Given the description of an element on the screen output the (x, y) to click on. 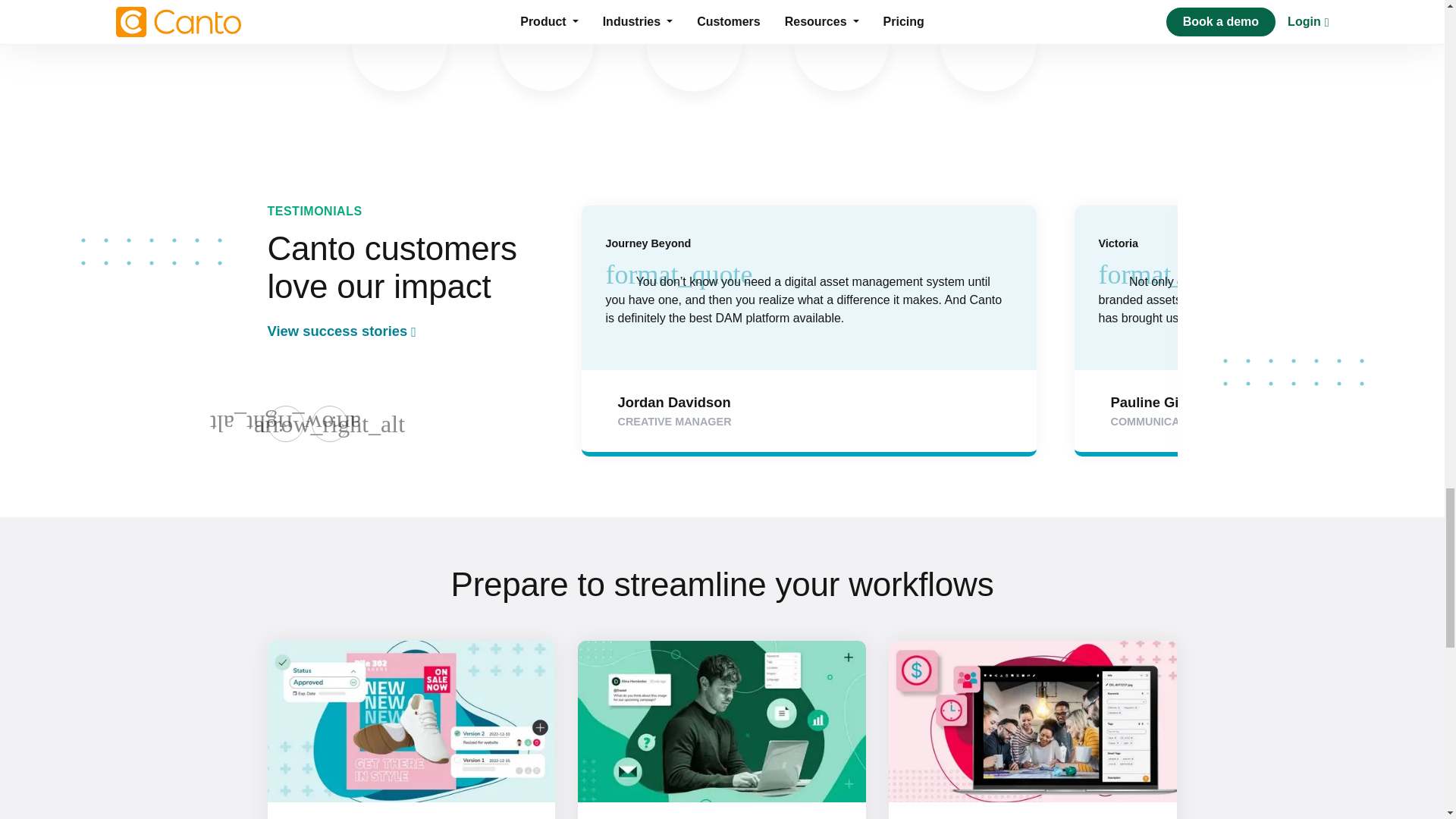
View success stories (399, 331)
